Given the description of an element on the screen output the (x, y) to click on. 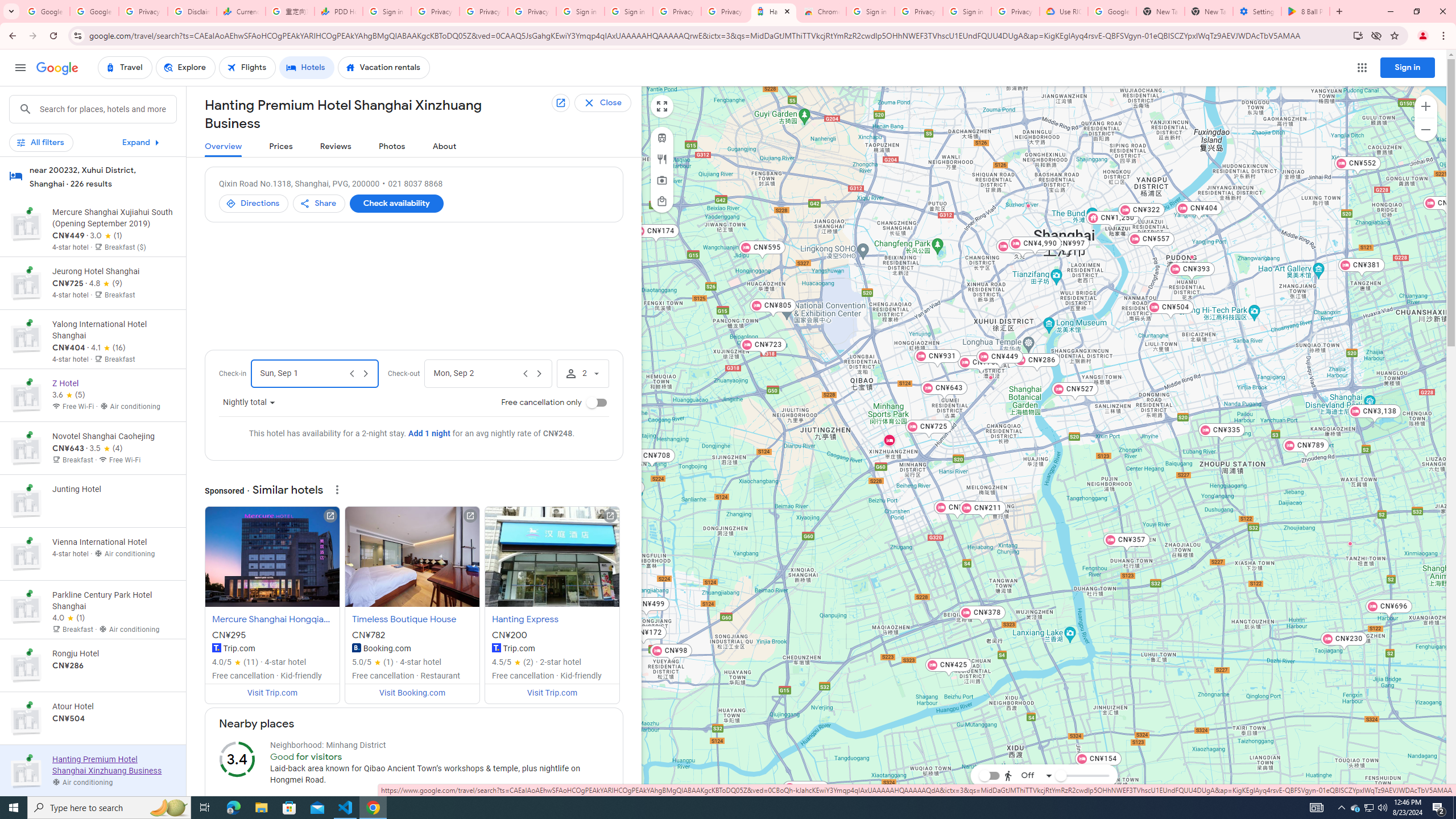
Travel (124, 67)
Walk (1025, 718)
Areas for dining (661, 158)
Open in new tab (560, 103)
View prices for Rongju Hotel (113, 705)
Sign in - Google Accounts (870, 11)
View prices for Yalong International Hotel Shanghai (113, 382)
3.4 out of 5 (237, 758)
Z Hotel (1076, 239)
